Given the description of an element on the screen output the (x, y) to click on. 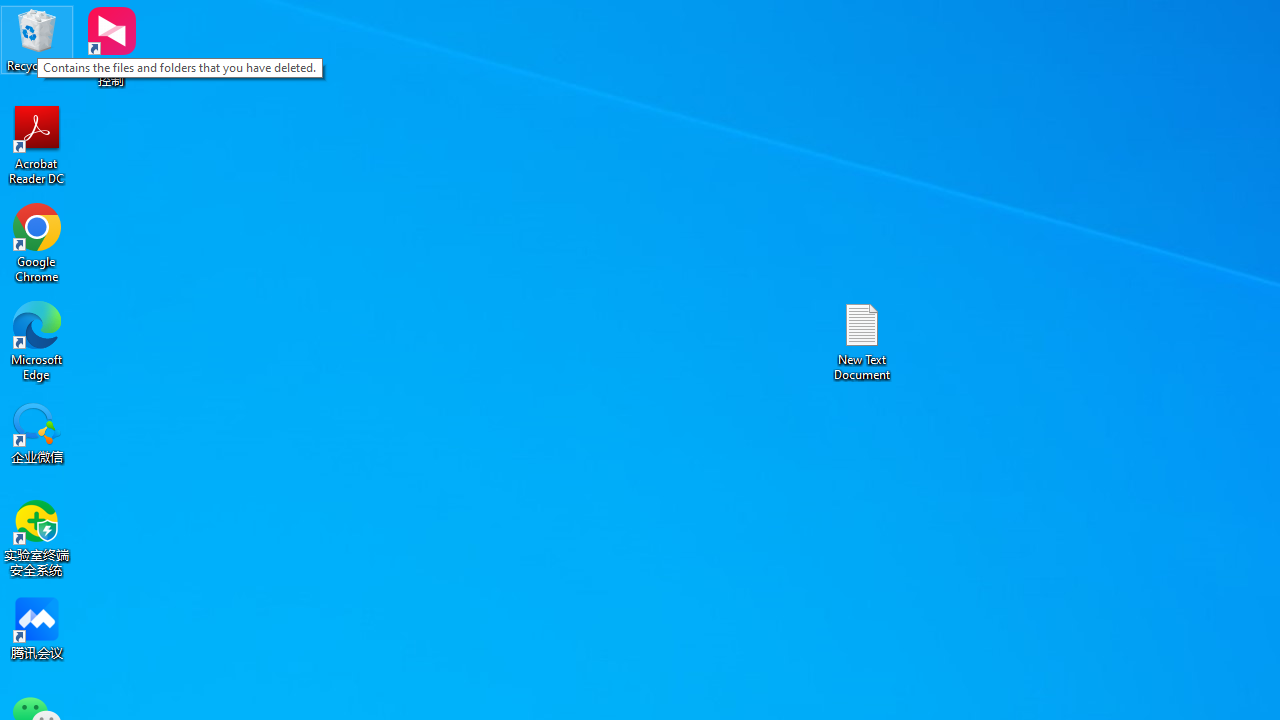
Microsoft Edge (37, 340)
Google Chrome (37, 242)
New Text Document (861, 340)
Acrobat Reader DC (37, 144)
Recycle Bin (37, 39)
